Given the description of an element on the screen output the (x, y) to click on. 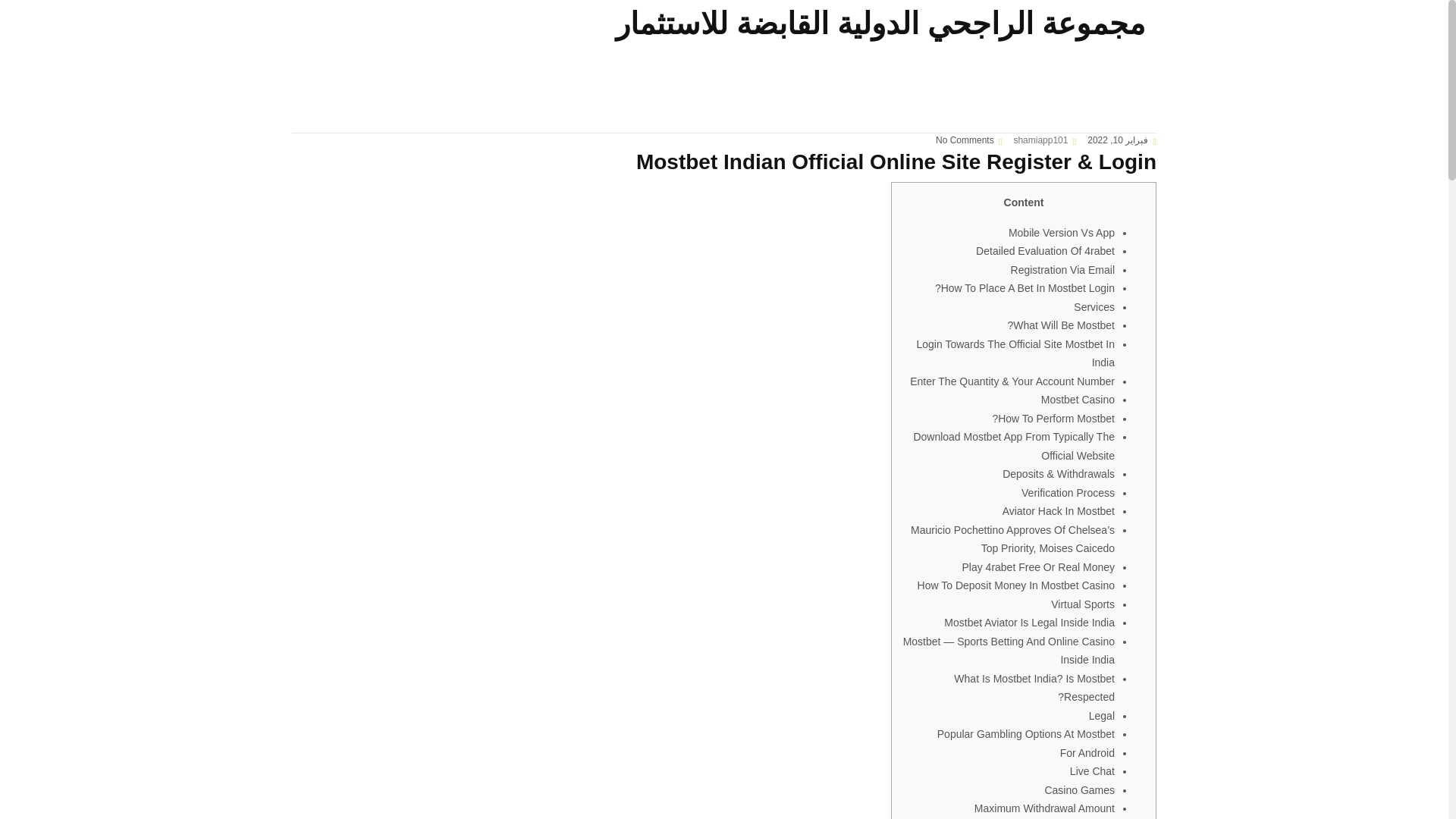
Play 4rabet Free Or Real Money (1037, 567)
How To Place A Bet In Mostbet Login? (1024, 287)
How To Perform Mostbet? (1053, 418)
Legal (1102, 715)
Mostbet Aviator Is Legal Inside India (1029, 622)
Download Mostbet App From Typically The Official Website (1013, 445)
How To Deposit Money In Mostbet Casino (1016, 585)
Mostbet Casino (1078, 399)
Verification Process (1068, 492)
Detailed Evaluation Of 4rabet (1045, 250)
Popular Gambling Options At Mostbet (1026, 734)
Login Towards The Official Site Mostbet In India (1016, 353)
Virtual Sports (1083, 604)
shamiapp101 (1040, 140)
Maximum Withdrawal Amount (1044, 808)
